Given the description of an element on the screen output the (x, y) to click on. 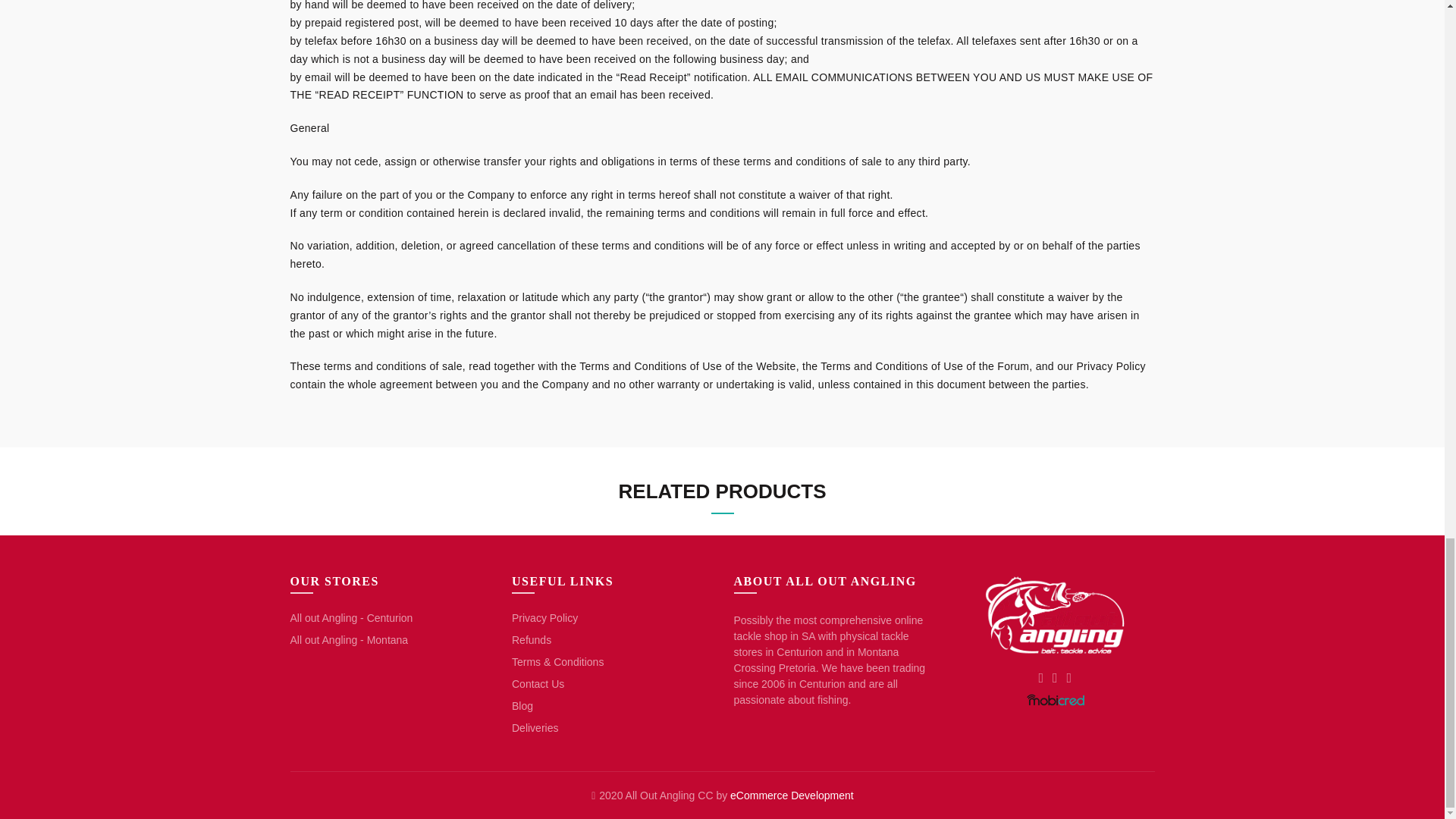
All Out Angling (1054, 614)
